Given the description of an element on the screen output the (x, y) to click on. 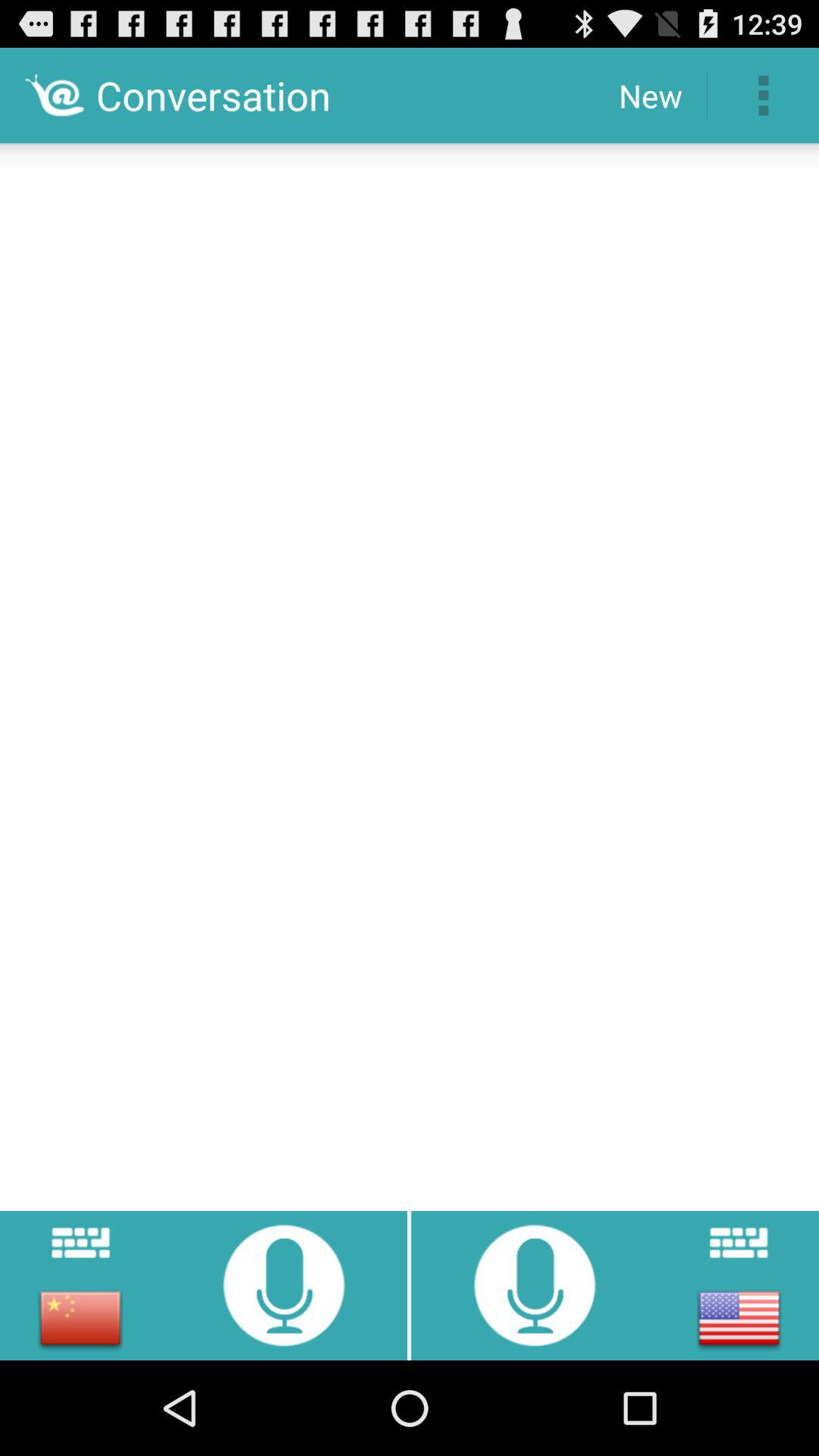
type word (738, 1242)
